Given the description of an element on the screen output the (x, y) to click on. 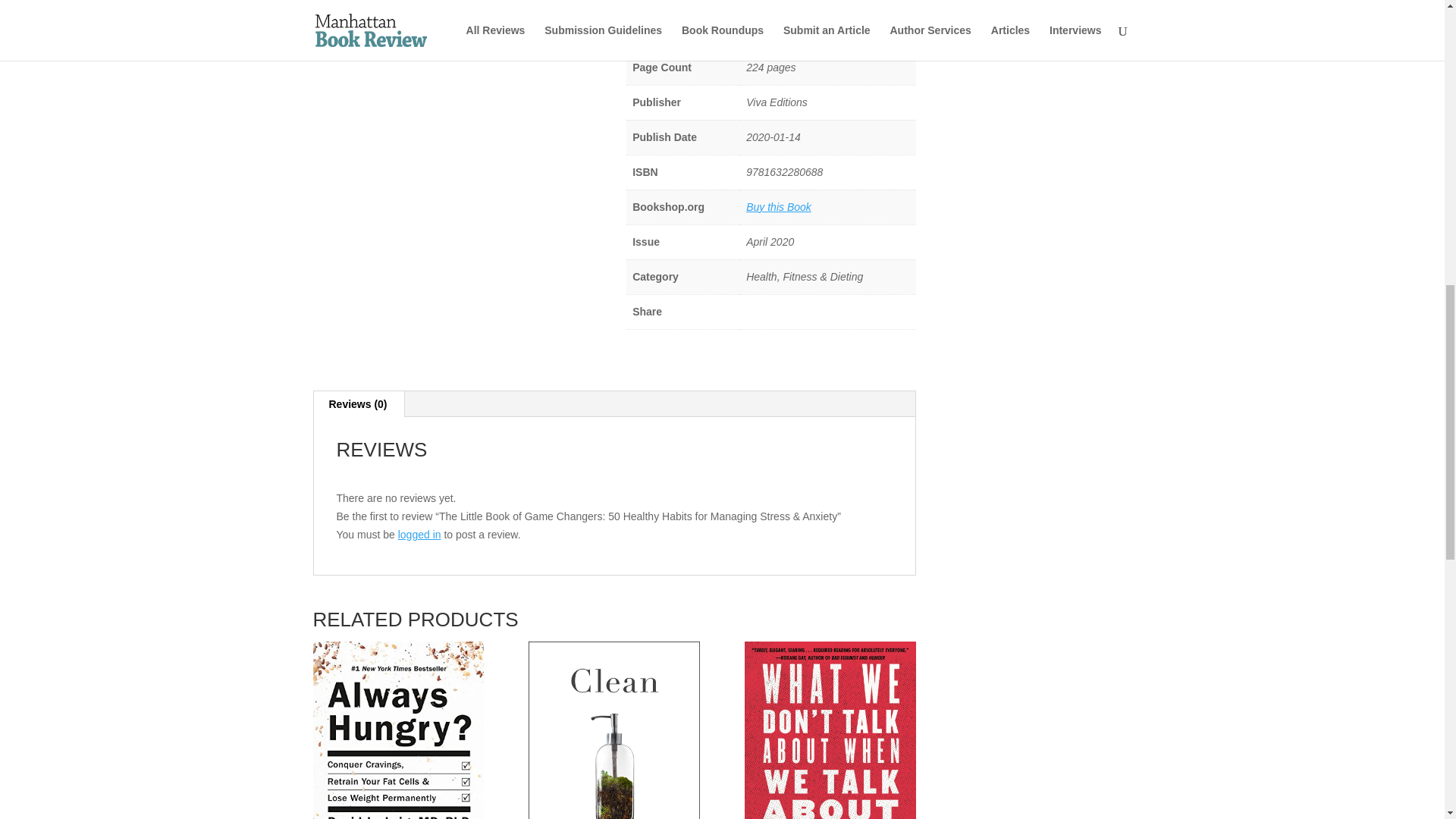
Buy this Book (777, 206)
logged in (419, 534)
